Given the description of an element on the screen output the (x, y) to click on. 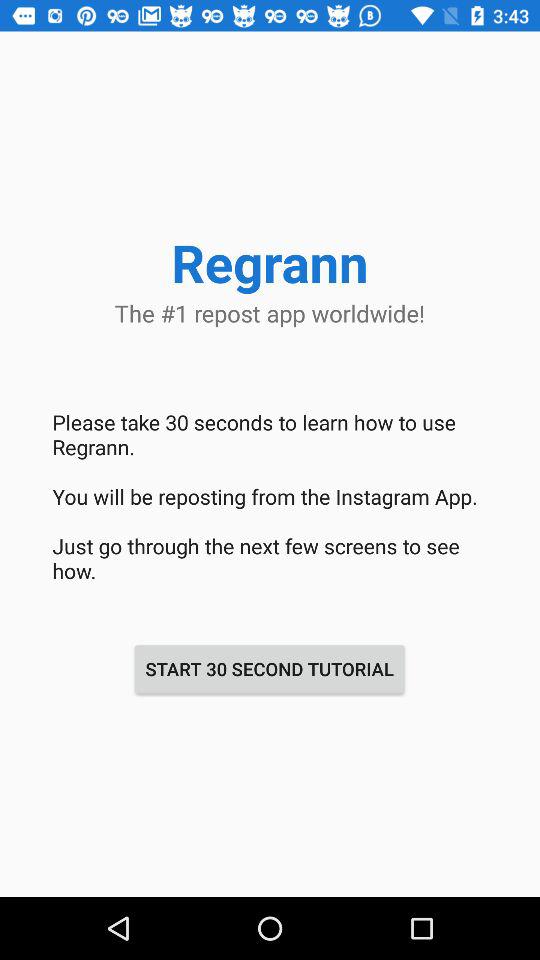
select start 30 second item (269, 668)
